Given the description of an element on the screen output the (x, y) to click on. 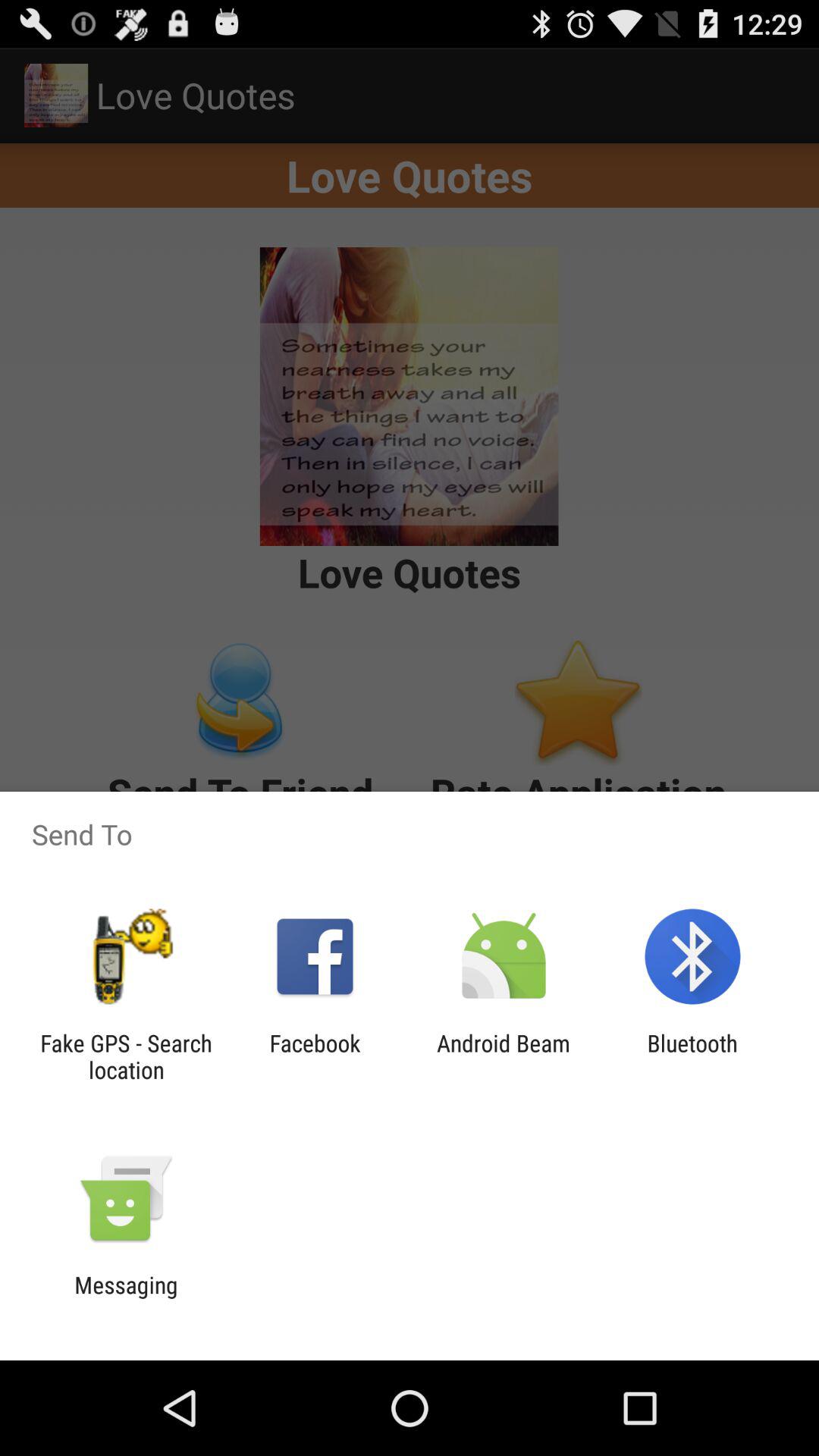
select the messaging app (126, 1298)
